Given the description of an element on the screen output the (x, y) to click on. 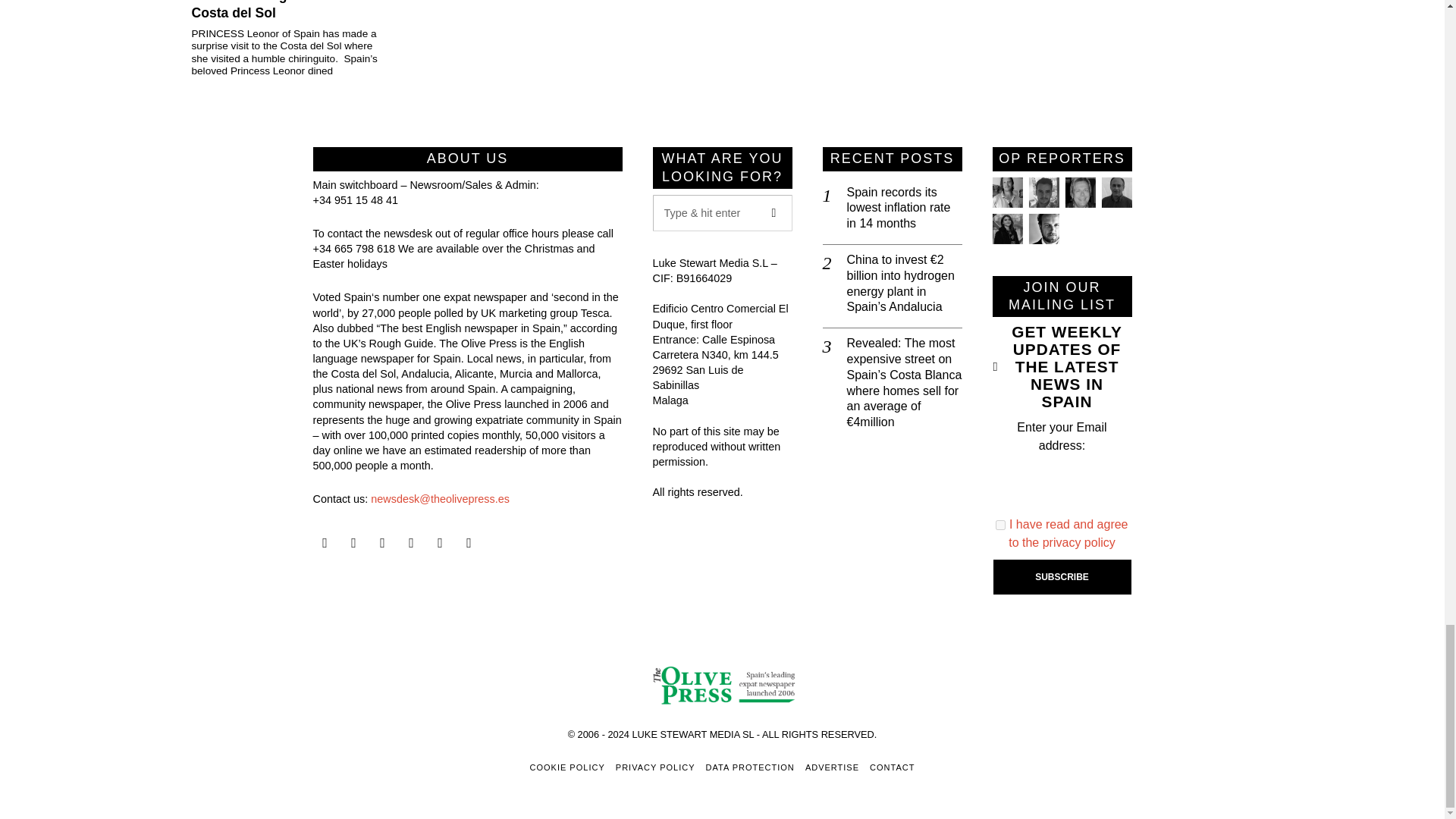
Walter Finch (1042, 228)
SUBSCRIBE (1061, 576)
1 (1000, 524)
Yzabelle Bostyn (1006, 228)
Alex Trelinski (1079, 192)
Laurence Dollimore (1042, 192)
Go (773, 212)
Dilip Kuner (1115, 192)
